Given the description of an element on the screen output the (x, y) to click on. 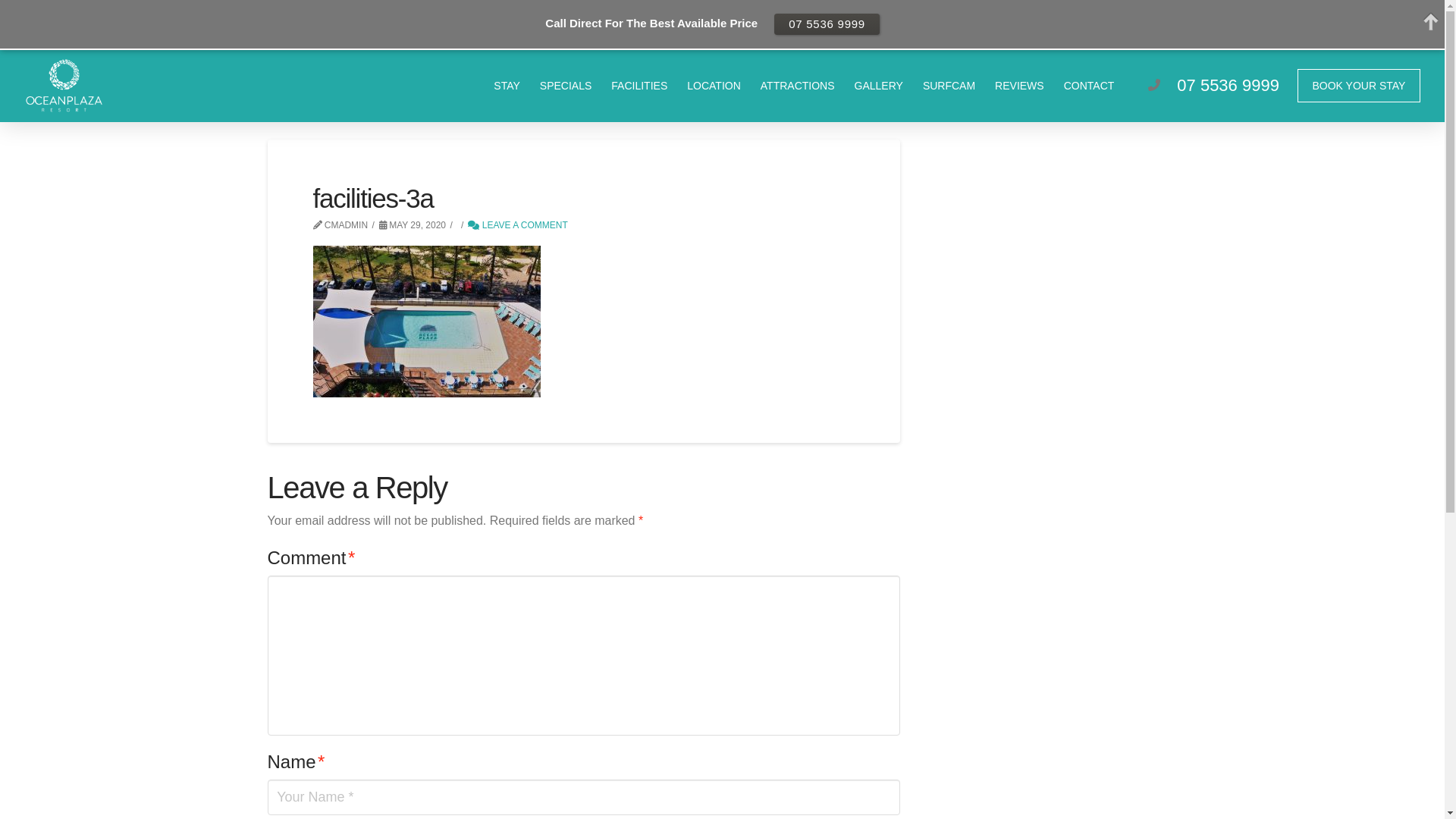
07 5536 9999 Element type: text (1227, 84)
SURFCAM Element type: text (949, 85)
FACILITIES Element type: text (639, 85)
GALLERY Element type: text (878, 85)
LOCATION Element type: text (713, 85)
CONTACT Element type: text (1089, 85)
ATTRACTIONS Element type: text (797, 85)
LEAVE A COMMENT Element type: text (517, 224)
STAY Element type: text (506, 85)
REVIEWS Element type: text (1019, 85)
SPECIALS Element type: text (565, 85)
BOOK YOUR STAY Element type: text (1358, 85)
